Given the description of an element on the screen output the (x, y) to click on. 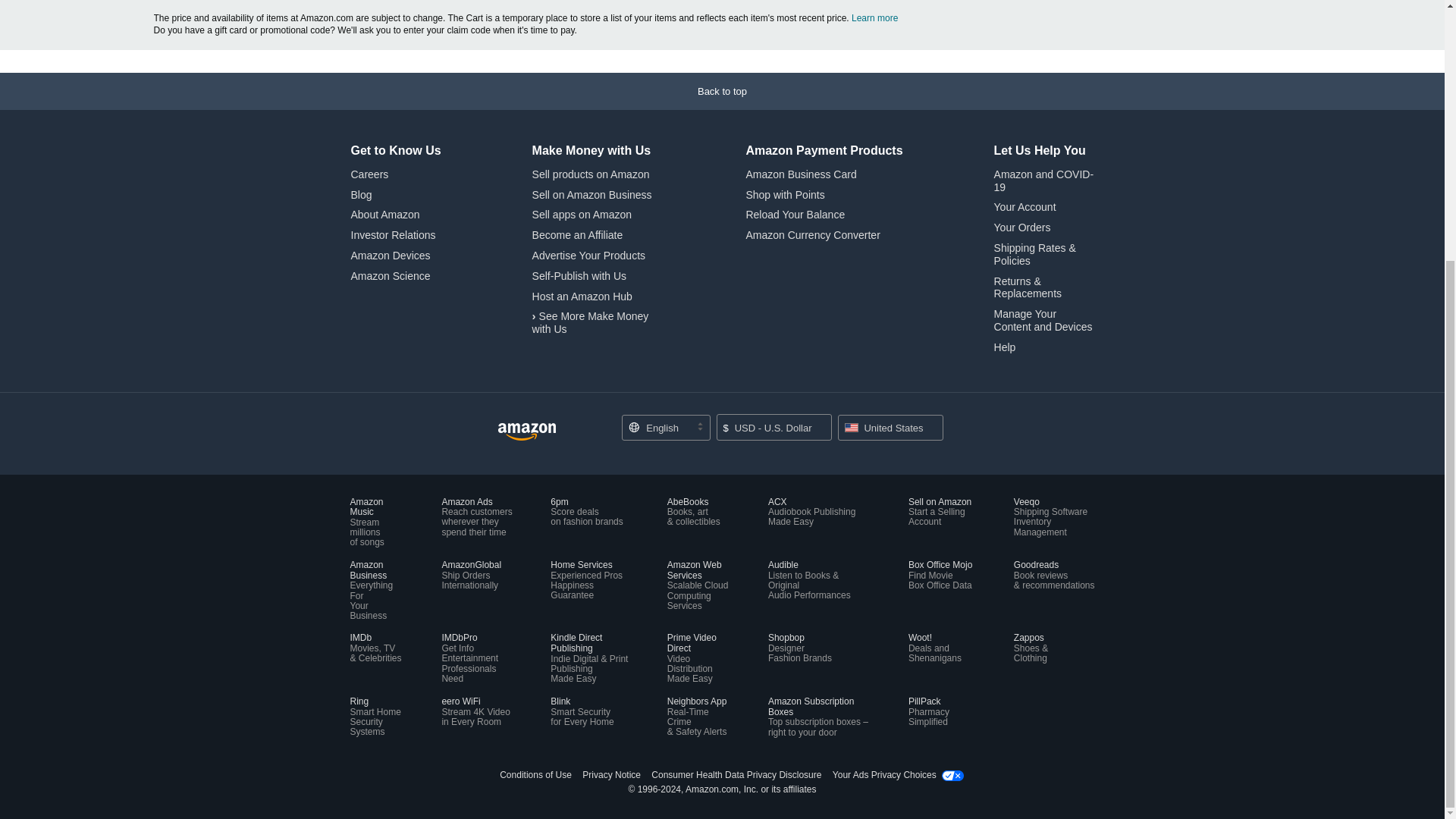
Careers (369, 174)
See More Make Money with Us (590, 322)
Sell on Amazon Business (592, 194)
Sell products on Amazon (590, 174)
Sell apps on Amazon (581, 214)
About Amazon (384, 214)
Self-Publish with Us (579, 275)
Host an Amazon Hub (581, 296)
Become an Affiliate (577, 234)
Investor Relations (392, 234)
